Given the description of an element on the screen output the (x, y) to click on. 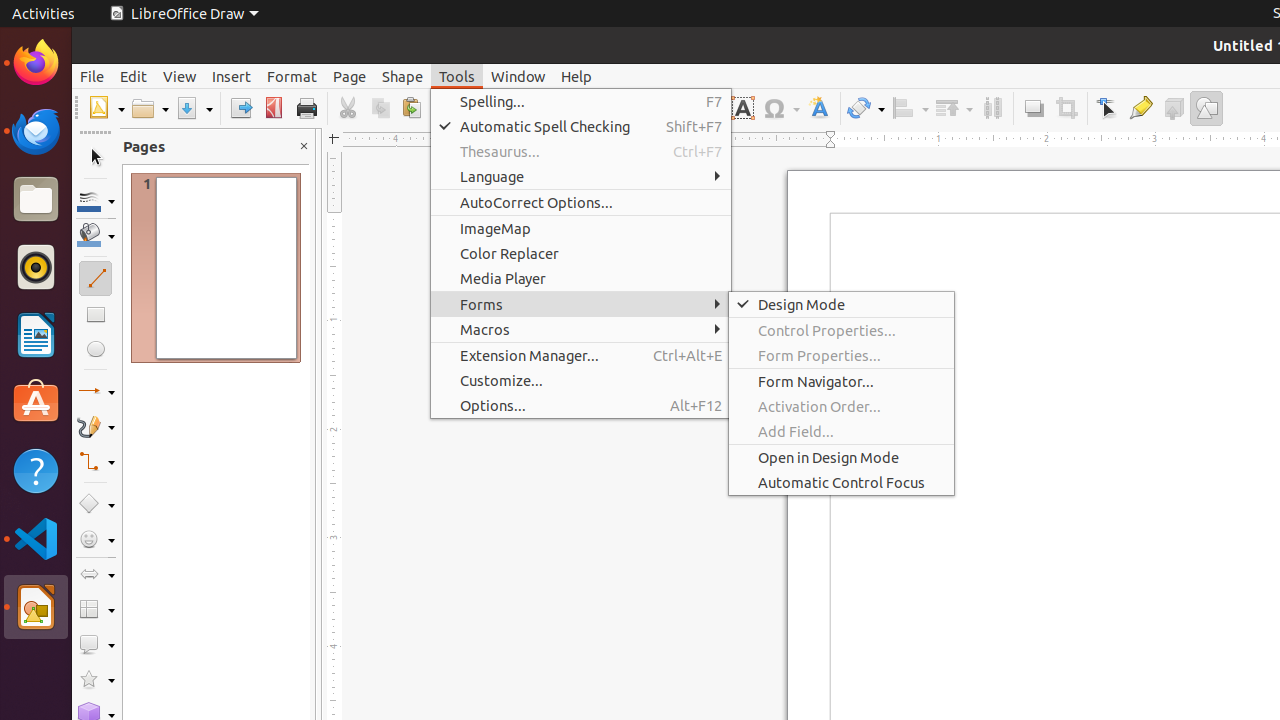
View Element type: menu (179, 76)
Visual Studio Code Element type: push-button (36, 538)
Options... Element type: menu-item (581, 405)
Thunderbird Mail Element type: push-button (36, 131)
Automatic Control Focus Element type: check-menu-item (841, 482)
